Given the description of an element on the screen output the (x, y) to click on. 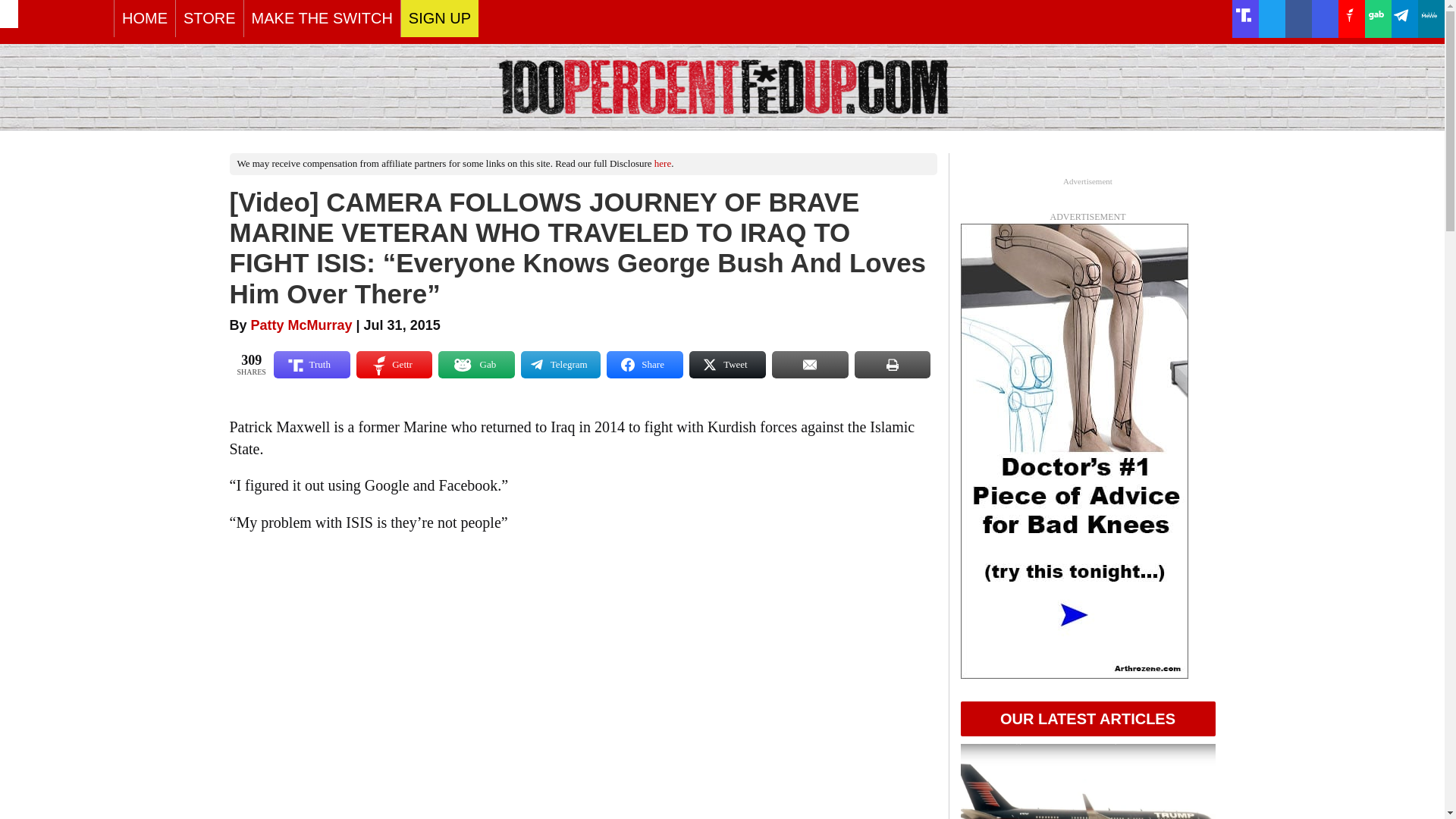
Patty McMurray (301, 324)
SIGN UP (440, 18)
STORE (209, 18)
Telegram (560, 364)
Share on Gab (476, 364)
MAKE THE SWITCH (322, 18)
HOME (144, 18)
New York Times Video - Embed Player (583, 683)
Gettr (394, 364)
